Given the description of an element on the screen output the (x, y) to click on. 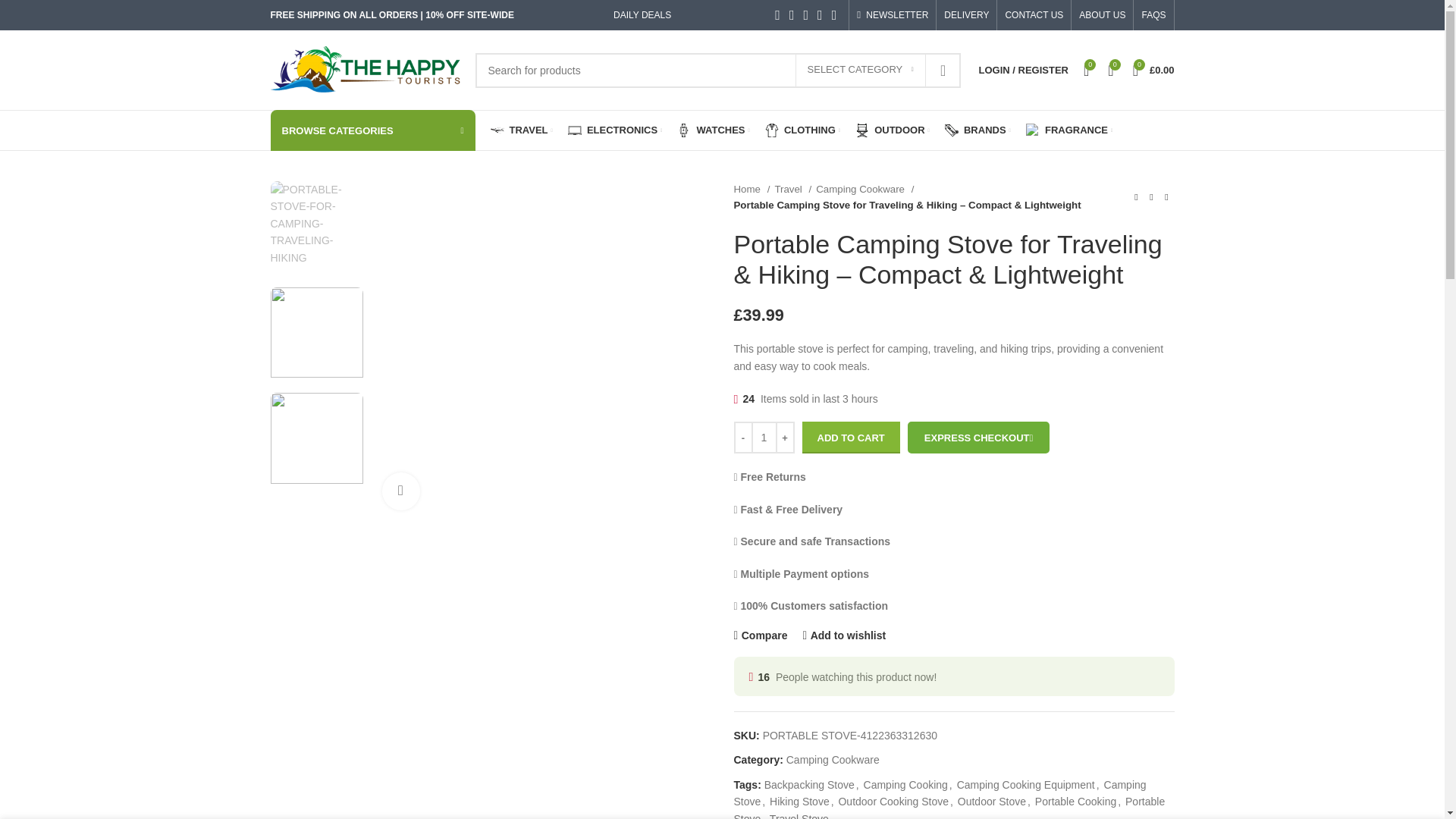
My account (1023, 69)
DAILY DEALS (641, 15)
Search for products (716, 70)
NEWSLETTER (892, 15)
ABOUT US (1101, 15)
Shopping cart (1153, 69)
DELIVERY (965, 15)
SELECT CATEGORY (860, 70)
CONTACT US (1033, 15)
SELECT CATEGORY (860, 70)
